Given the description of an element on the screen output the (x, y) to click on. 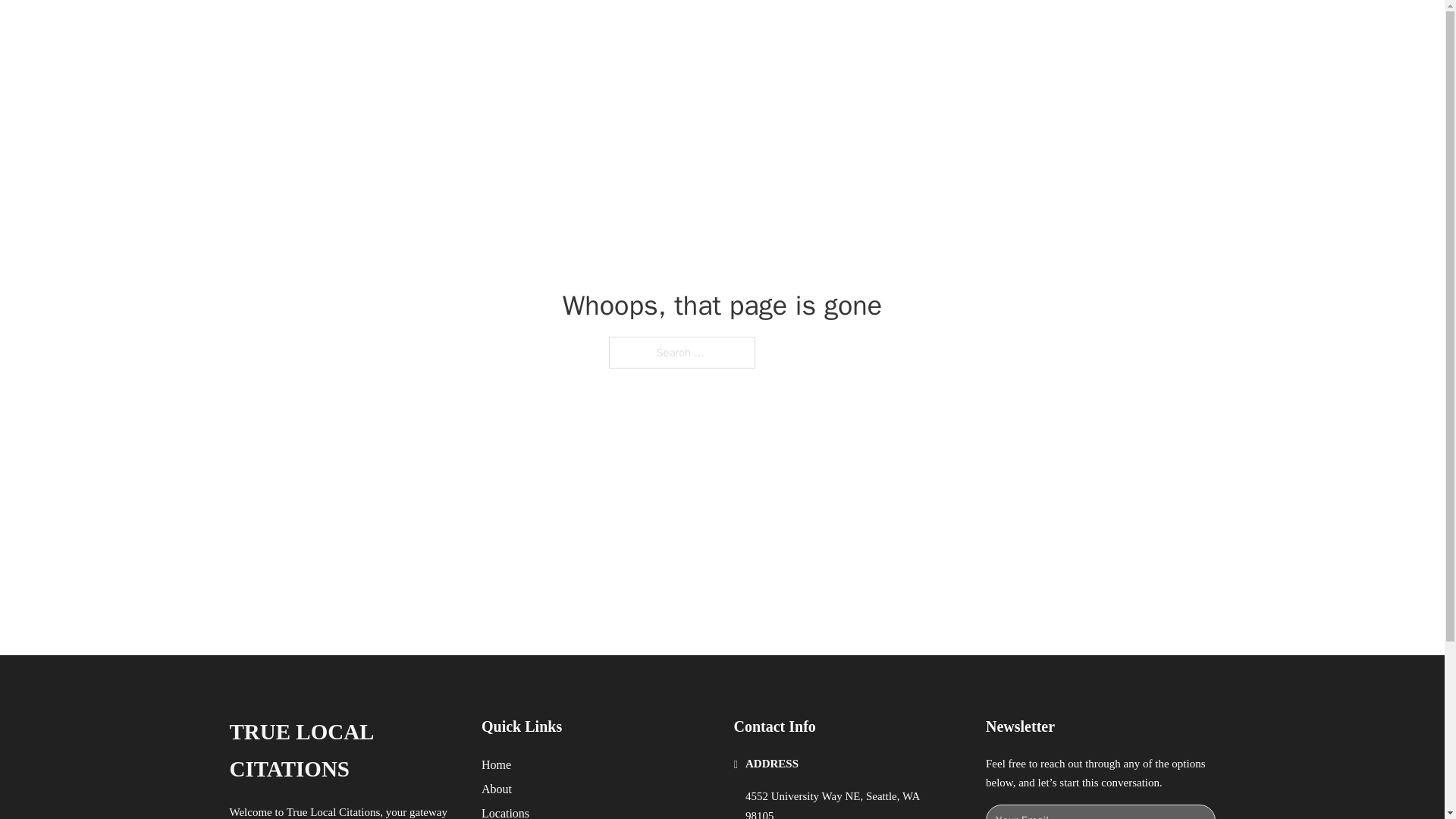
Home (496, 764)
About (496, 788)
TRUE LOCAL CITATIONS (343, 750)
Locations (505, 811)
TRUE LOCAL CITATIONS (426, 28)
